Given the description of an element on the screen output the (x, y) to click on. 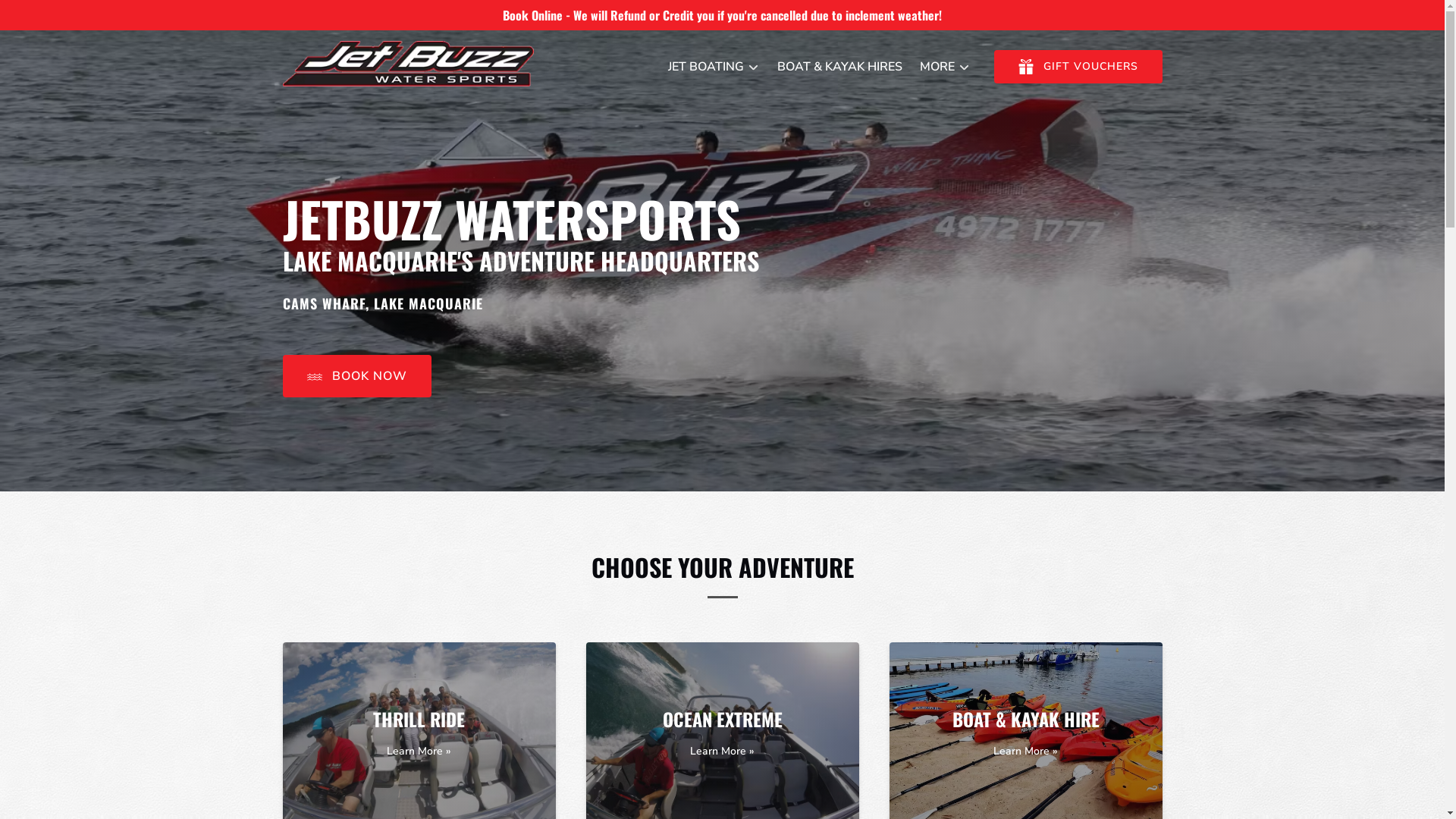
Skip to content Element type: text (48, 16)
Skip to primary navigation Element type: text (79, 16)
JET BOATING Element type: text (712, 66)
Skip to footer Element type: text (44, 16)
GIFT GIFT VOUCHERS Element type: text (1077, 66)
MORE Element type: text (944, 66)
WATER BOOK NOW Element type: text (356, 333)
BOAT & KAYAK HIRES Element type: text (838, 66)
